Given the description of an element on the screen output the (x, y) to click on. 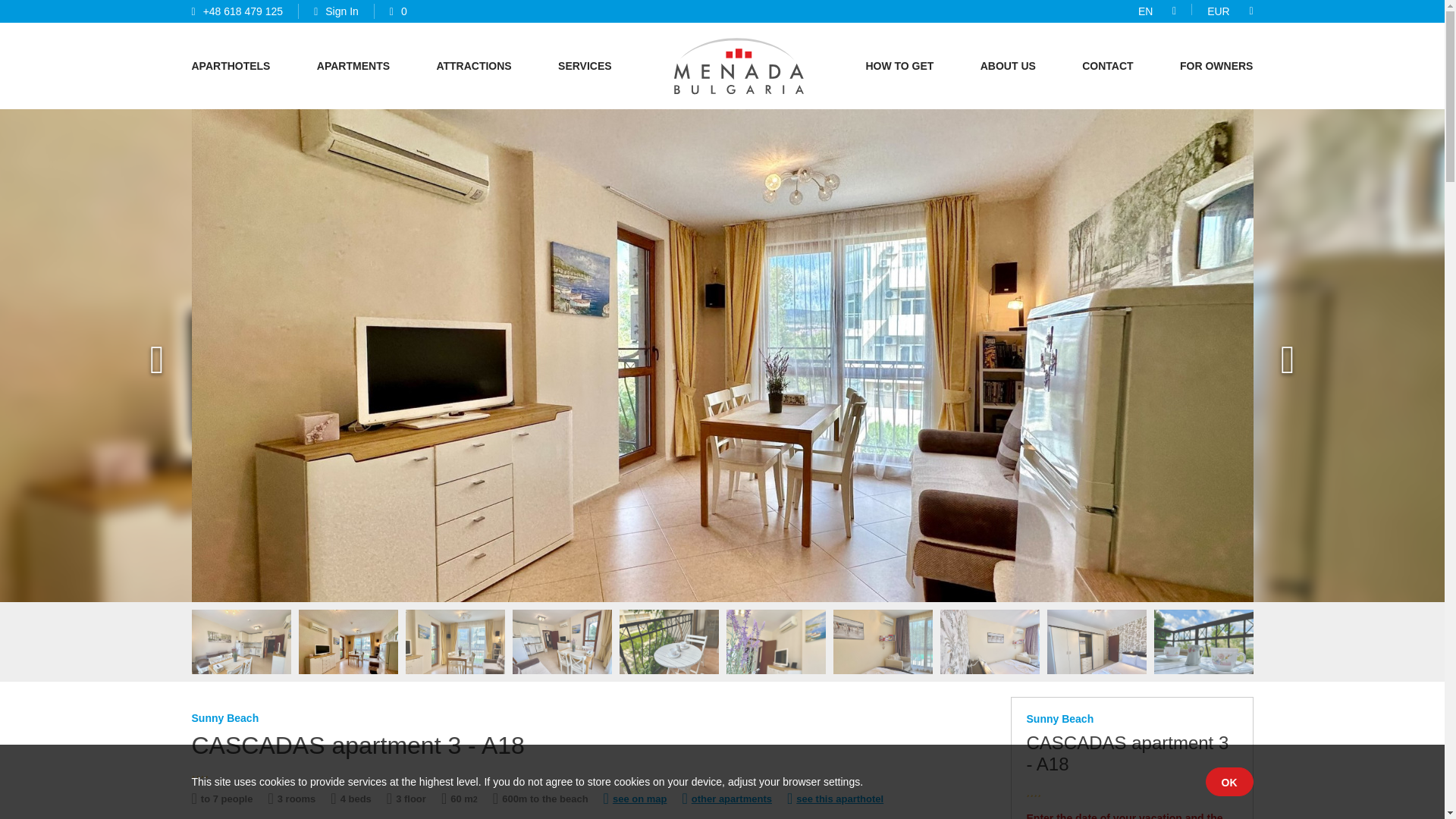
Sunny Beach (224, 717)
Sign In (336, 10)
see this aparthotel (835, 796)
CONTACT (1106, 65)
0 (398, 10)
ATTRACTIONS (473, 65)
Sunny Beach (1060, 718)
SERVICES (584, 65)
other apartments (726, 796)
EUR (1218, 11)
FOR OWNERS (1215, 65)
see on map (635, 796)
ABOUT US (1007, 65)
APARTHOTELS (229, 65)
HOW TO GET (898, 65)
